Given the description of an element on the screen output the (x, y) to click on. 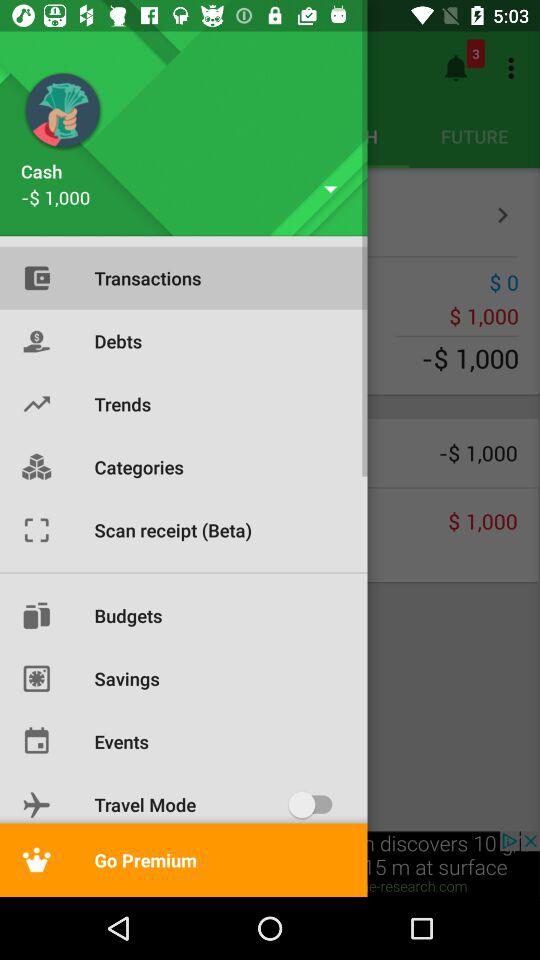
click on the drop down button (330, 188)
click on the button which is below the future (503, 215)
